Given the description of an element on the screen output the (x, y) to click on. 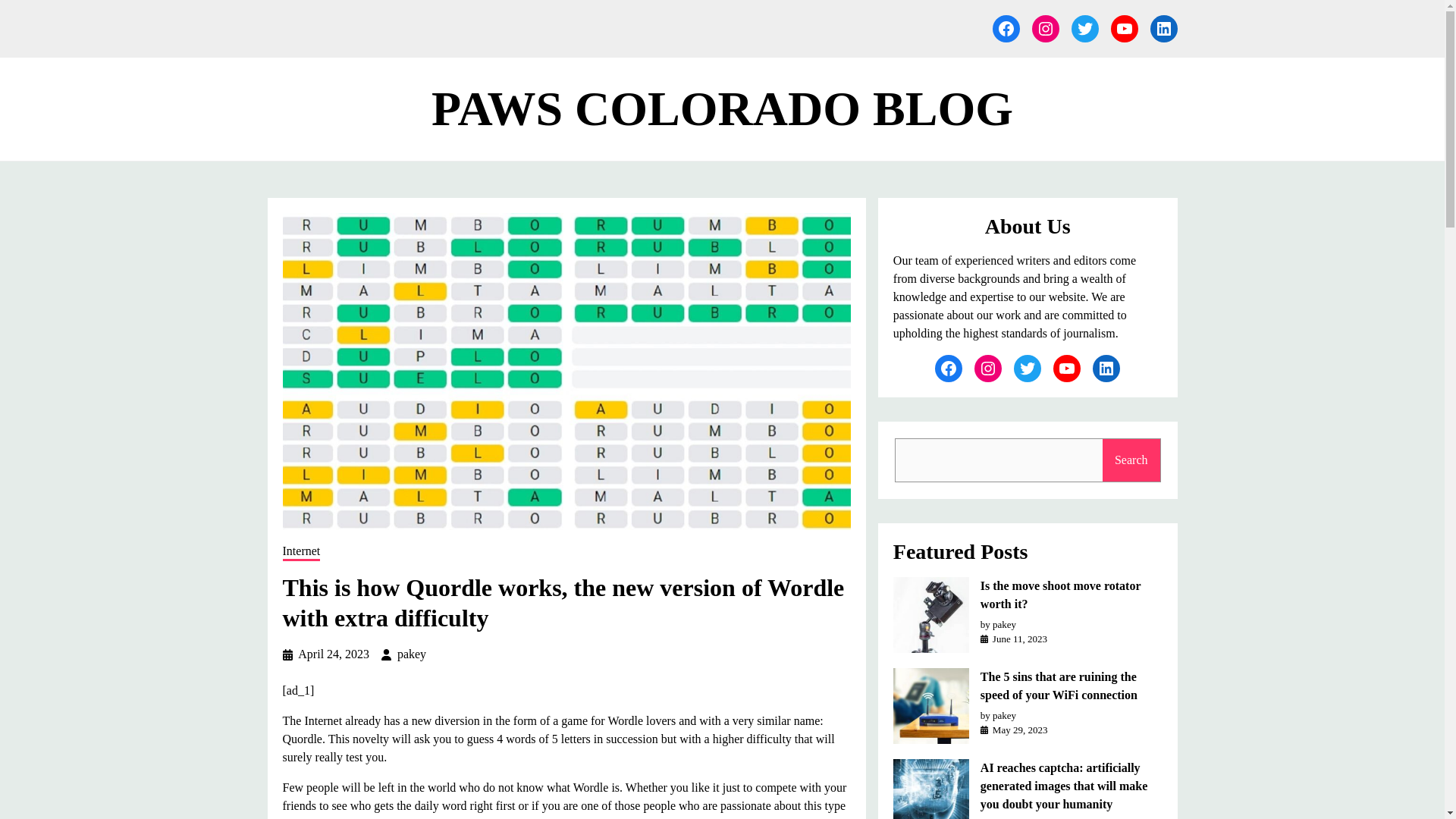
PAWS COLORADO BLOG (721, 108)
Internet (301, 552)
Is the move shoot move rotator worth it? (1070, 595)
Facebook (1005, 28)
Instagram (1044, 28)
LinkedIn (1163, 28)
YouTube (1123, 28)
Instagram (987, 368)
Twitter (1027, 368)
